Given the description of an element on the screen output the (x, y) to click on. 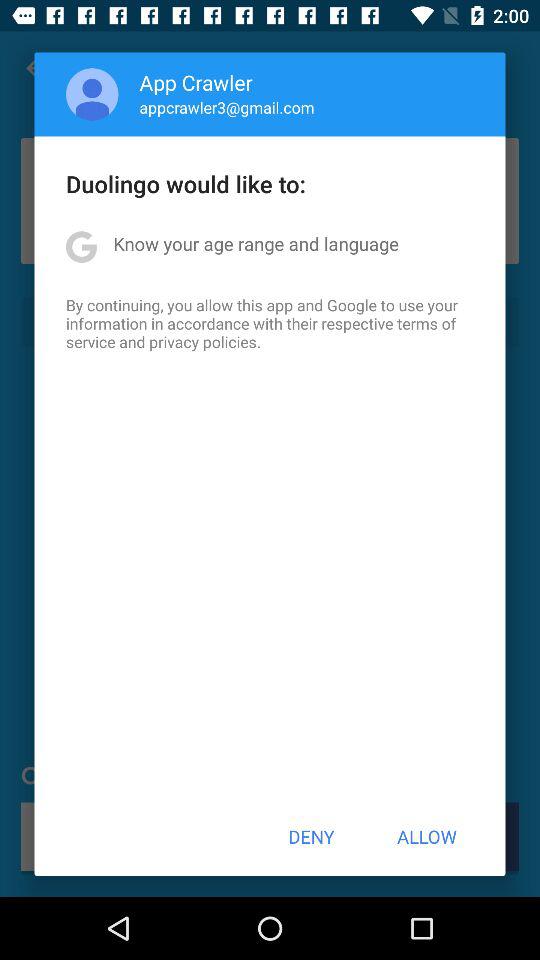
launch item next to the app crawler item (92, 94)
